Given the description of an element on the screen output the (x, y) to click on. 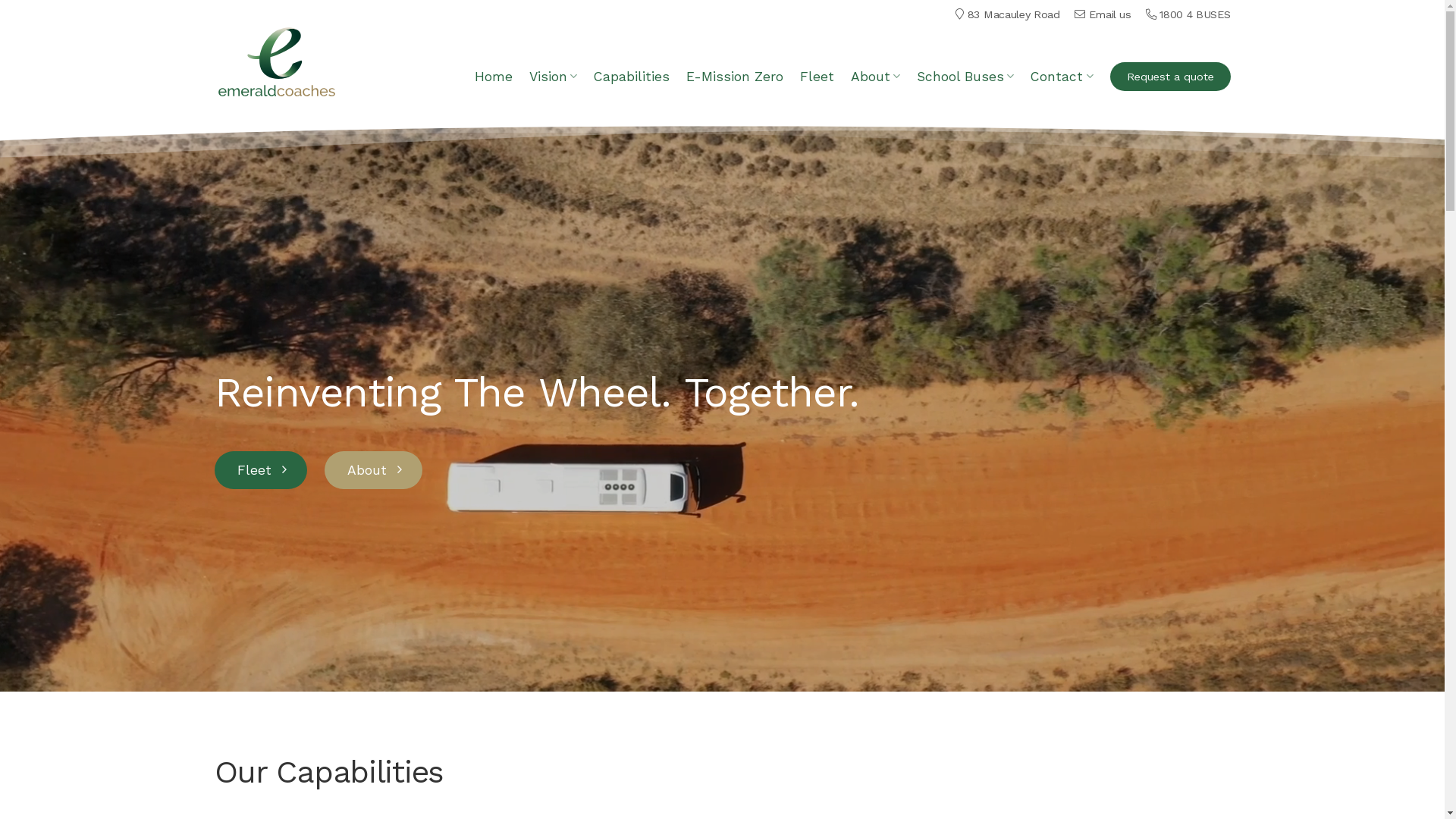
About Element type: text (875, 76)
Emerald Coaches - Delivering you safely on time, every time Element type: hover (277, 61)
Fleet Element type: text (817, 76)
Request a quote Element type: text (1170, 76)
1800 4 BUSES Element type: text (1194, 14)
Home Element type: text (493, 76)
School Buses Element type: text (964, 76)
Contact Element type: text (1061, 76)
Capabilities Element type: text (631, 76)
Vision Element type: text (553, 76)
83 Macauley Road Element type: text (1013, 14)
About Element type: text (373, 469)
E-Mission Zero Element type: text (734, 76)
Email us Element type: text (1109, 14)
Fleet Element type: text (259, 469)
